Given the description of an element on the screen output the (x, y) to click on. 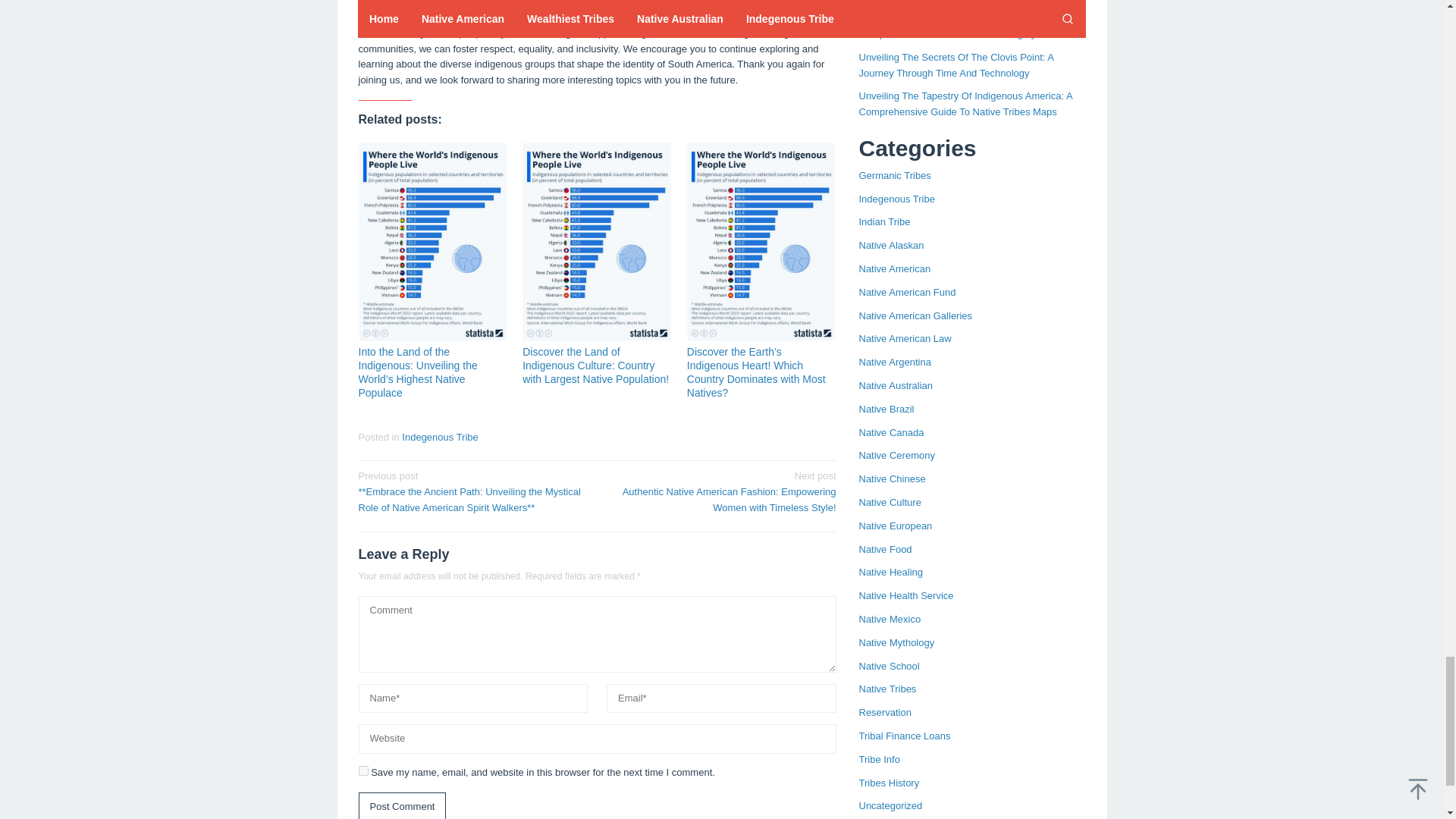
Indegenous Tribe (439, 437)
yes (363, 770)
Post Comment (401, 805)
Post Comment (401, 805)
